Given the description of an element on the screen output the (x, y) to click on. 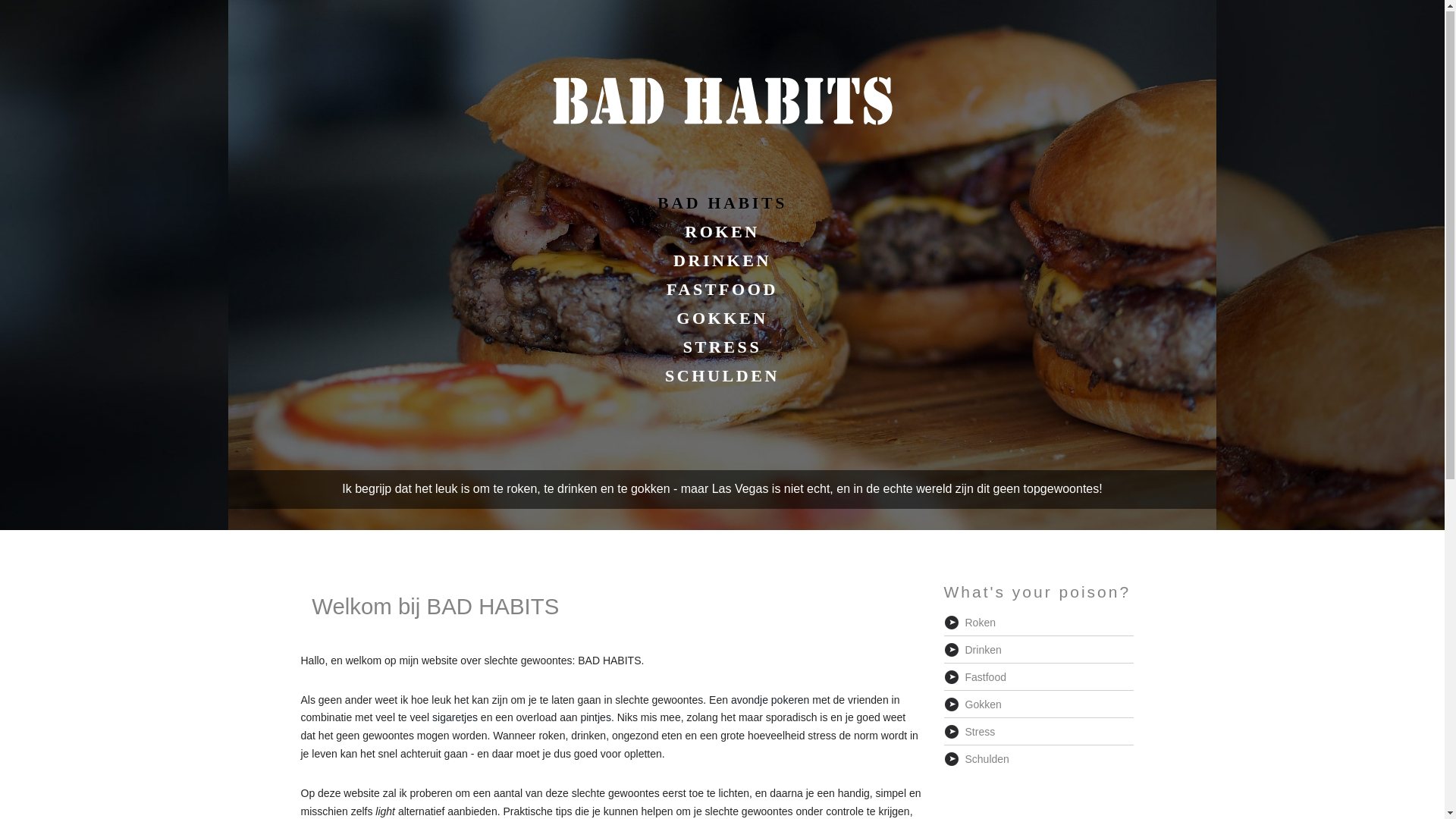
Schulden Element type: text (1037, 759)
ROKEN Element type: text (721, 232)
pintjes Element type: text (595, 718)
Drinken Element type: text (1037, 650)
sigaretjes Element type: text (454, 718)
SCHULDEN Element type: text (722, 376)
BAD HABITS Element type: text (722, 203)
STRESS Element type: text (722, 347)
avondje pokeren Element type: text (770, 700)
GOKKEN Element type: text (722, 319)
Roken Element type: text (1037, 622)
Gokken Element type: text (1037, 704)
FASTFOOD Element type: text (722, 290)
Stress Element type: text (1037, 731)
Fastfood Element type: text (1037, 677)
DRINKEN Element type: text (722, 261)
